Given the description of an element on the screen output the (x, y) to click on. 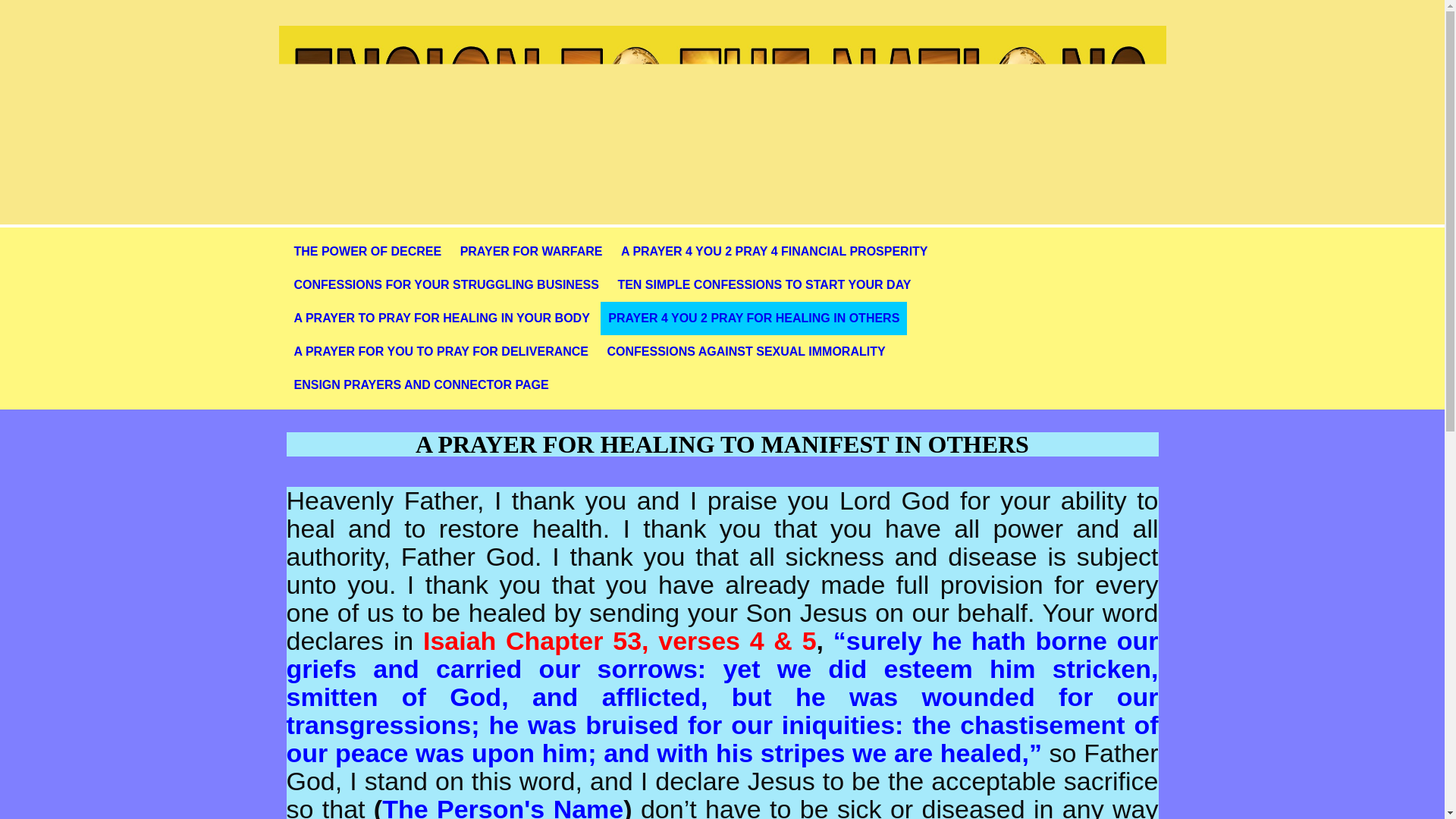
CONFESSIONS AGAINST SEXUAL IMMORALITY (745, 351)
CONFESSIONS FOR YOUR STRUGGLING BUSINESS (446, 285)
A PRAYER TO PRAY FOR HEALING IN YOUR BODY (441, 318)
TEN SIMPLE CONFESSIONS TO START YOUR DAY (764, 285)
PRAYER 4 YOU 2 PRAY FOR HEALING IN OTHERS (753, 318)
A PRAYER 4 YOU 2 PRAY 4 FINANCIAL PROSPERITY (774, 251)
ENSIGN PRAYERS AND CONNECTOR PAGE (421, 385)
PRAYER FOR WARFARE (531, 251)
ENSIGN 2 THE NATIONS NEW WEBSITE 2-14-2021 (722, 100)
A PRAYER FOR YOU TO PRAY FOR DELIVERANCE (441, 351)
